Given the description of an element on the screen output the (x, y) to click on. 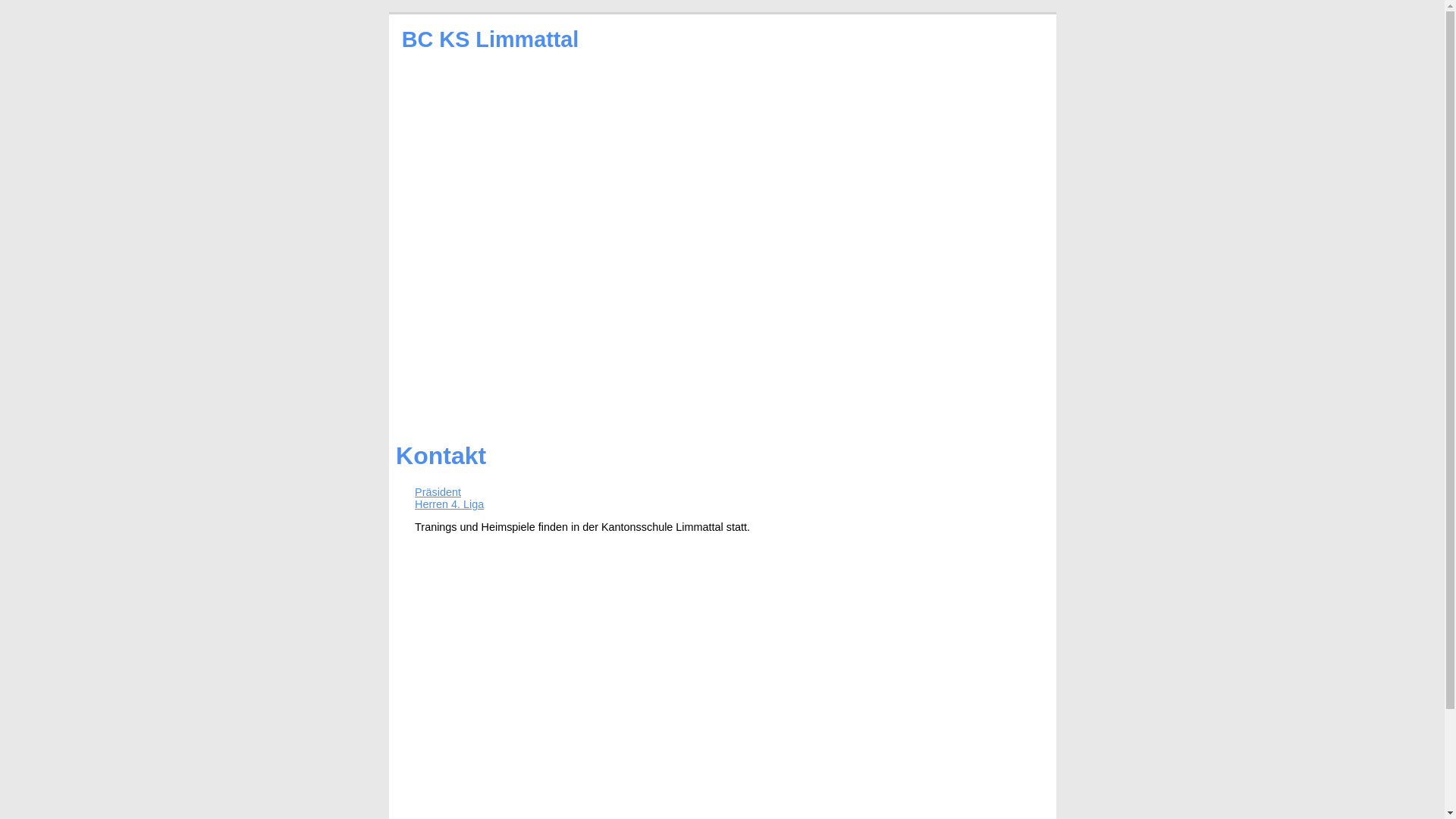
Team Element type: text (424, 391)
BC KS Limmattal Element type: text (490, 39)
Spielplan Element type: text (511, 391)
Kontakt Element type: text (712, 391)
Rangliste Element type: text (615, 391)
Herren 4. Liga Element type: text (448, 504)
